Given the description of an element on the screen output the (x, y) to click on. 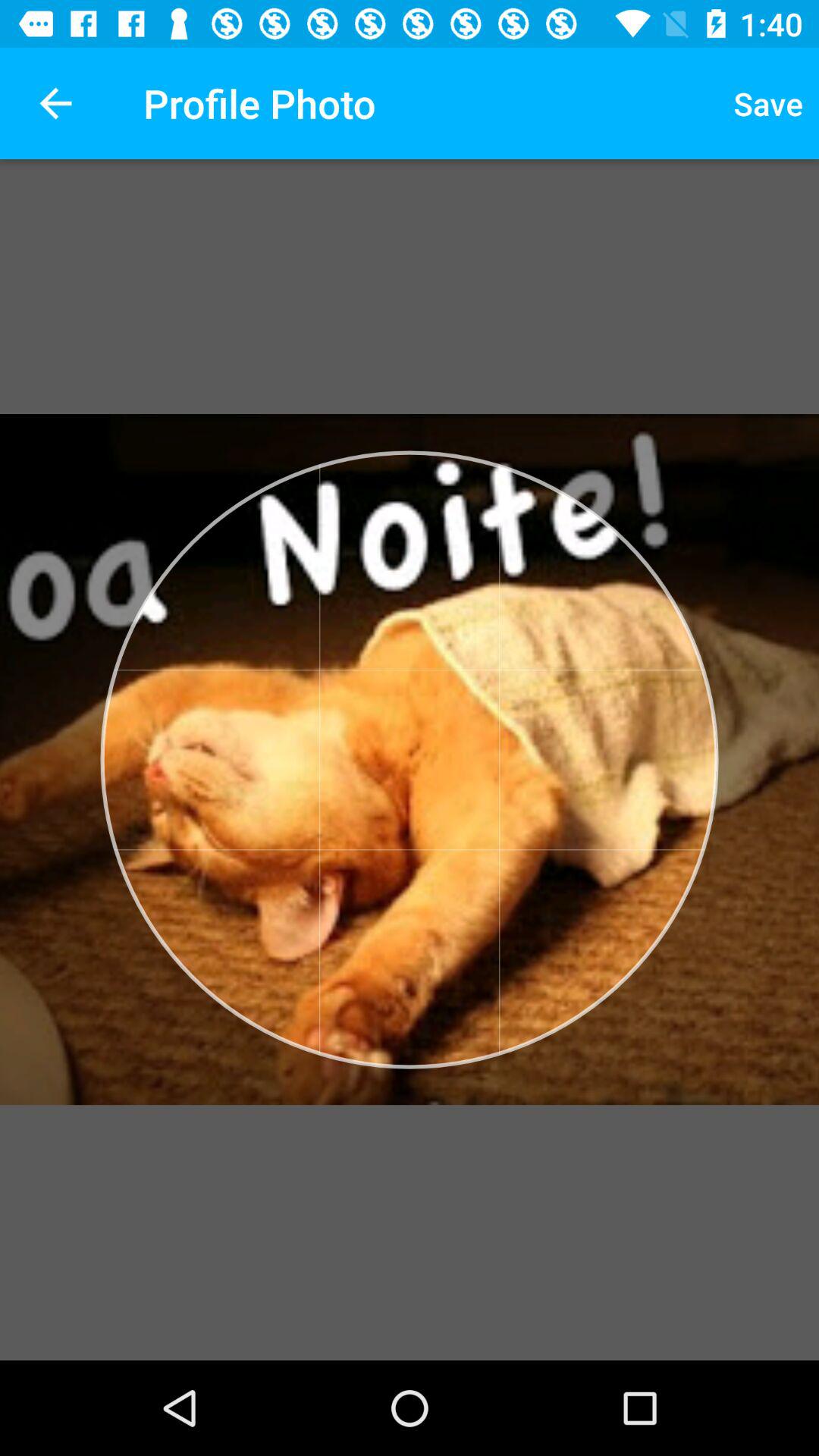
open icon next to the profile photo icon (55, 103)
